Given the description of an element on the screen output the (x, y) to click on. 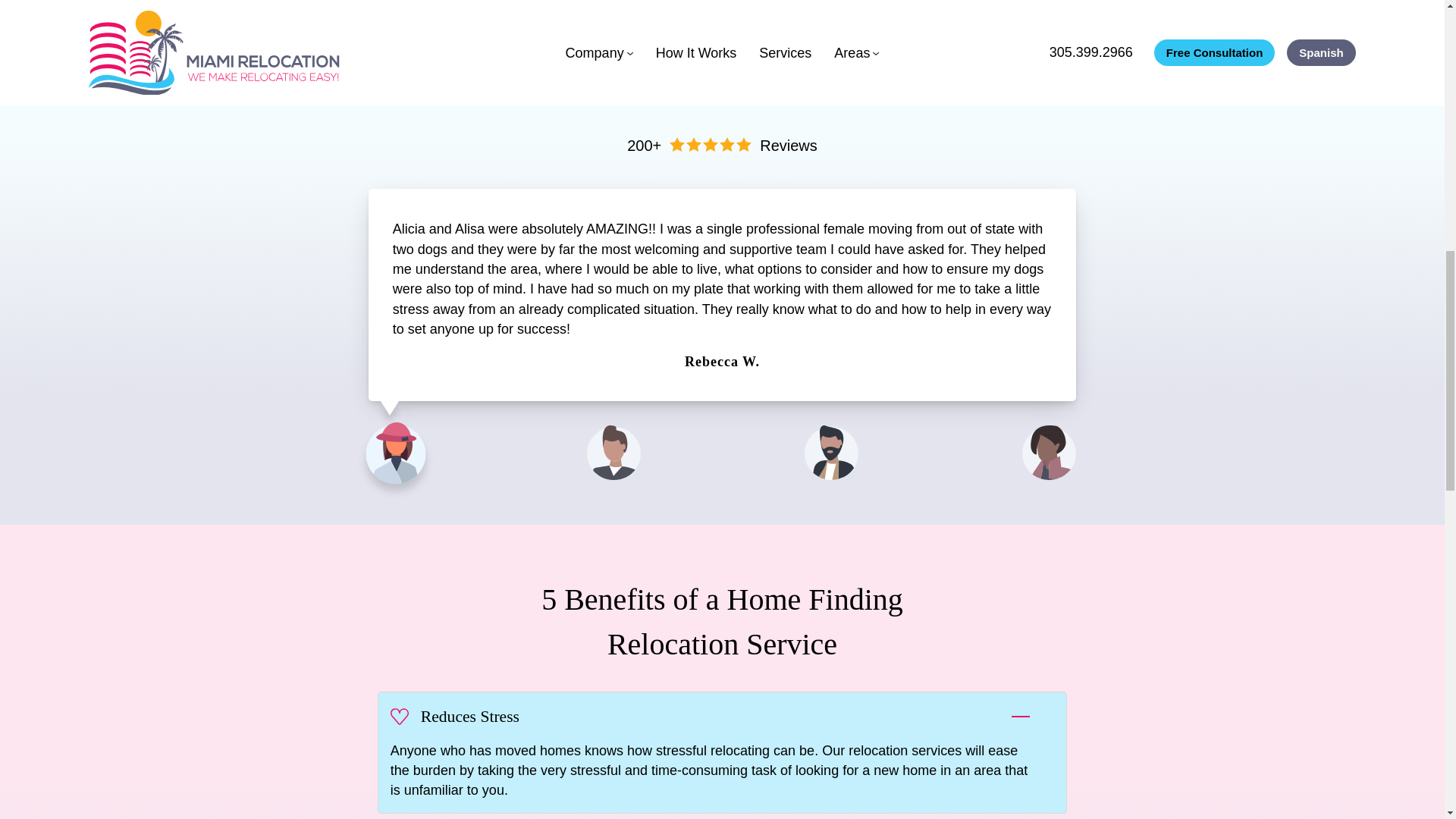
star (727, 144)
star (710, 144)
star (693, 144)
star (676, 144)
star (743, 144)
